Given the description of an element on the screen output the (x, y) to click on. 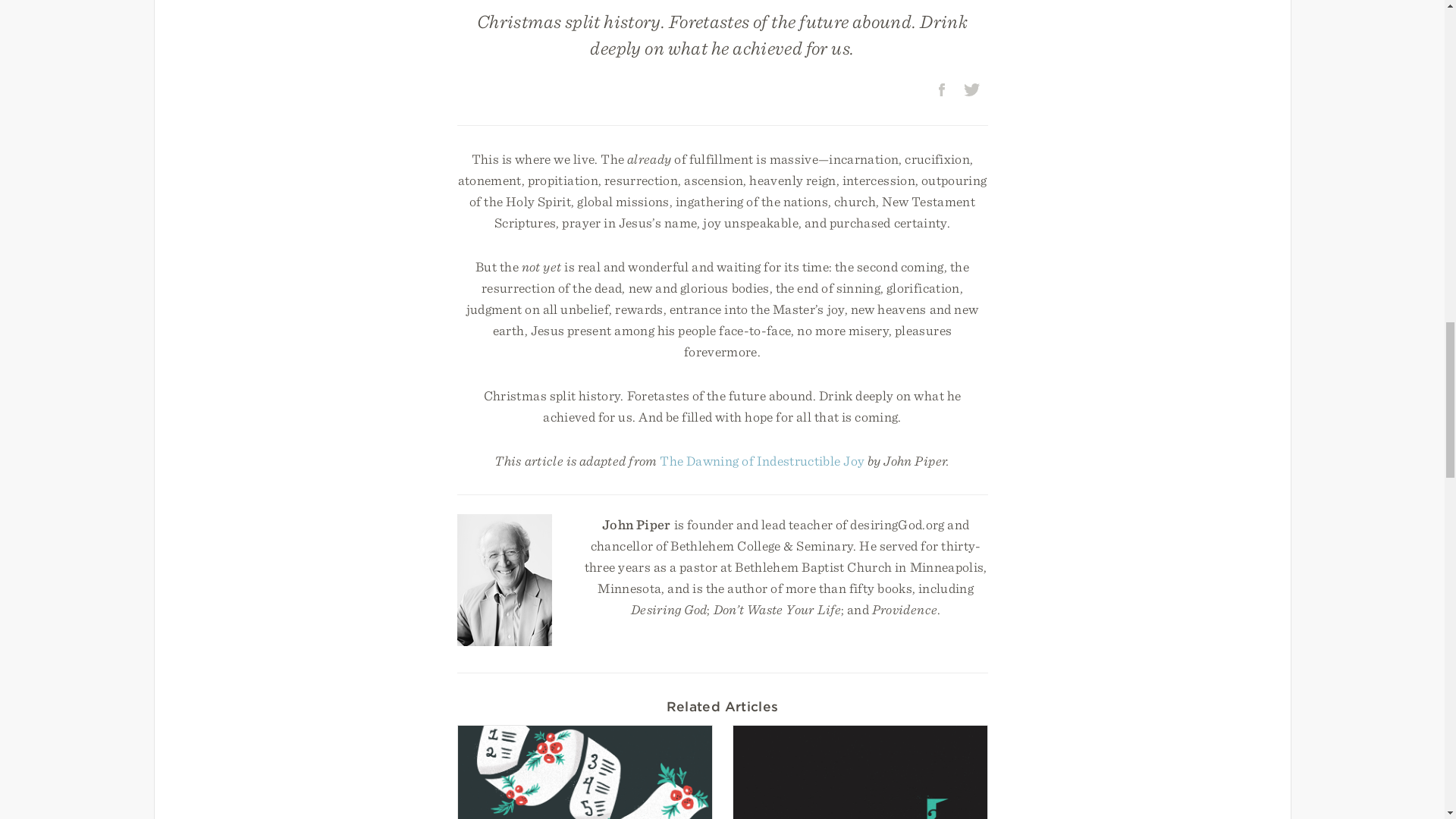
The Dawning of Indestructible Joy (761, 460)
